Given the description of an element on the screen output the (x, y) to click on. 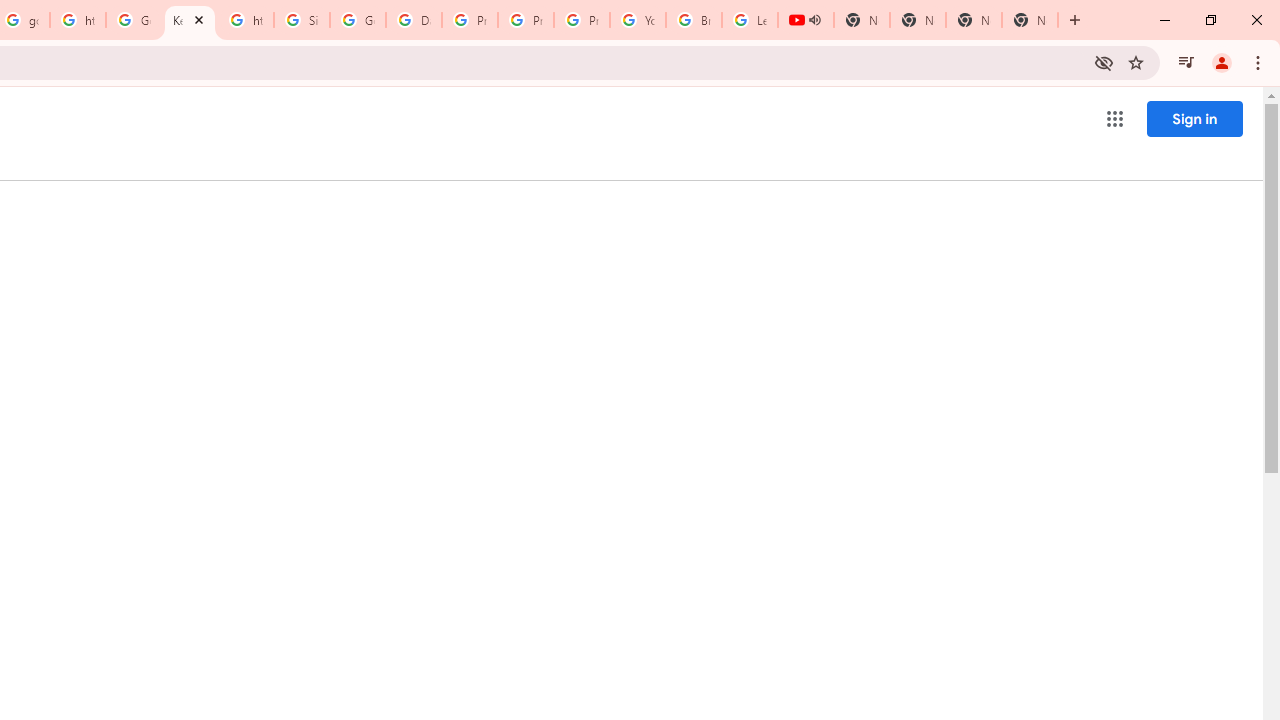
Privacy Help Center - Policies Help (469, 20)
Sign in - Google Accounts (301, 20)
New Tab (1030, 20)
YouTube (637, 20)
https://scholar.google.com/ (77, 20)
Privacy Help Center - Policies Help (525, 20)
